Given the description of an element on the screen output the (x, y) to click on. 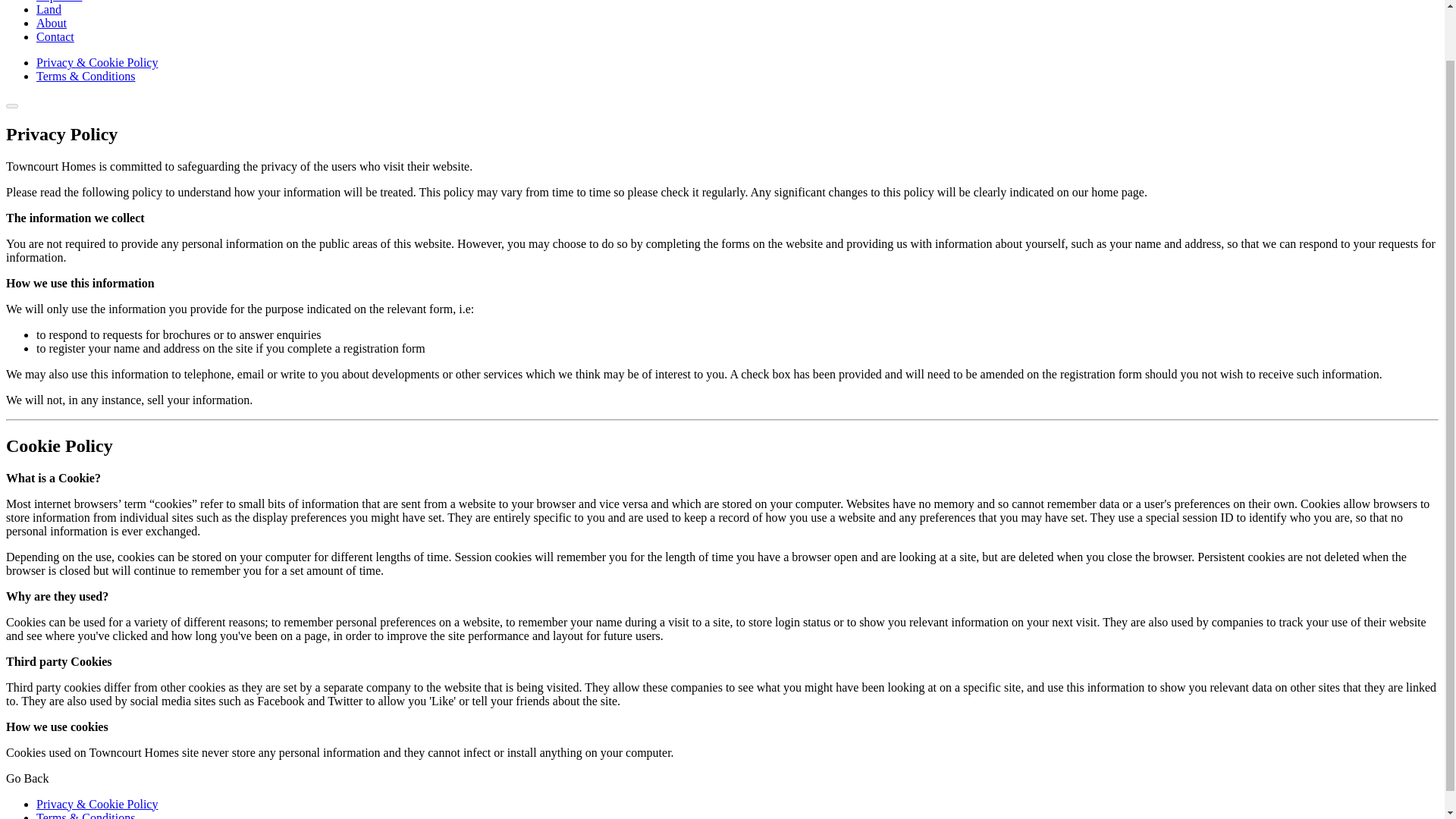
Contact (55, 36)
Land (48, 9)
Go Back (26, 778)
Expertise (58, 1)
About (51, 22)
